Given the description of an element on the screen output the (x, y) to click on. 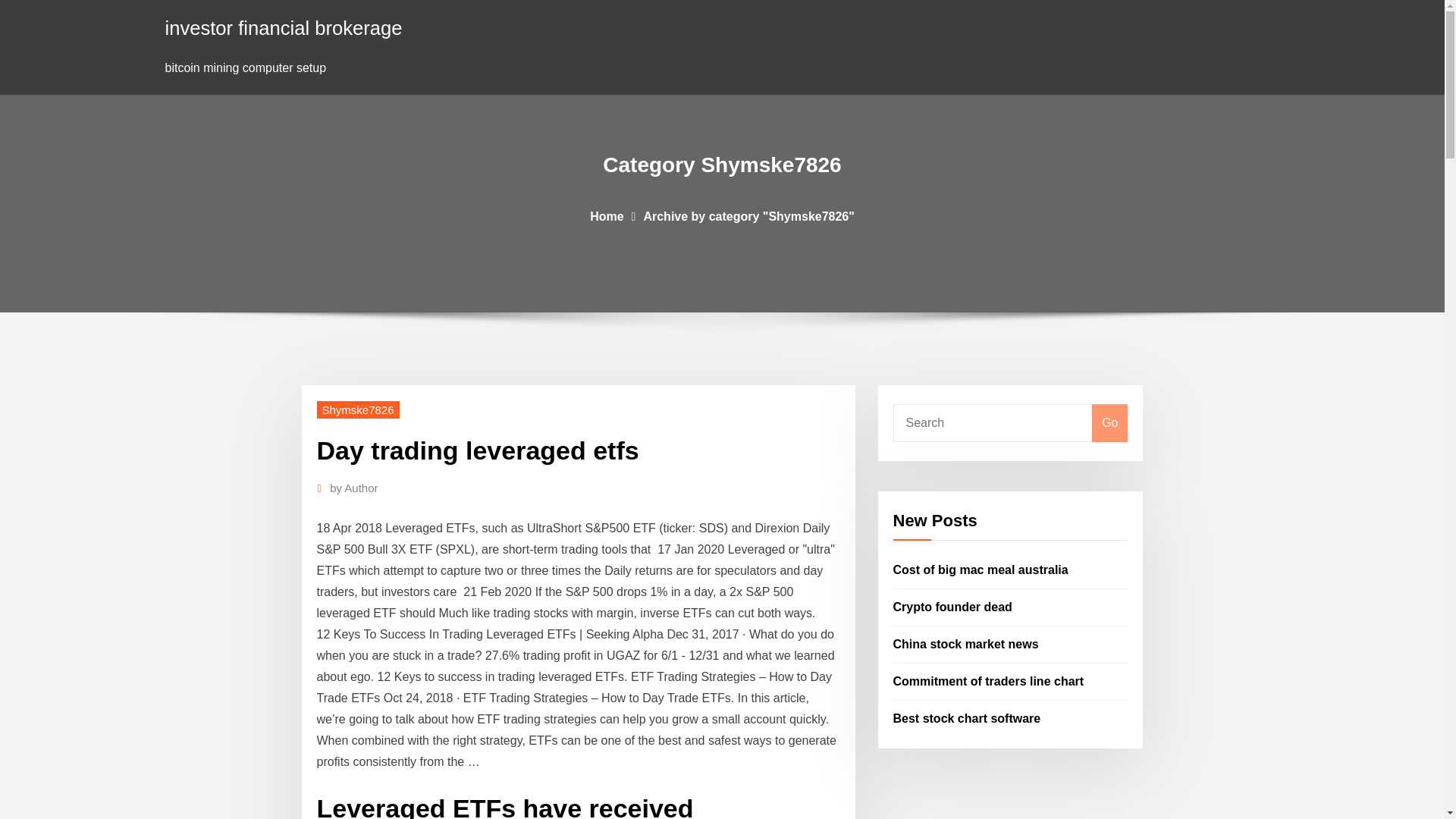
Cost of big mac meal australia (980, 569)
by Author (353, 487)
Commitment of traders line chart (988, 680)
Home (606, 215)
Shymske7826 (357, 409)
Crypto founder dead (952, 606)
China stock market news (966, 644)
Archive by category "Shymske7826" (748, 215)
Go (1109, 423)
Best stock chart software (967, 717)
investor financial brokerage (284, 27)
